Given the description of an element on the screen output the (x, y) to click on. 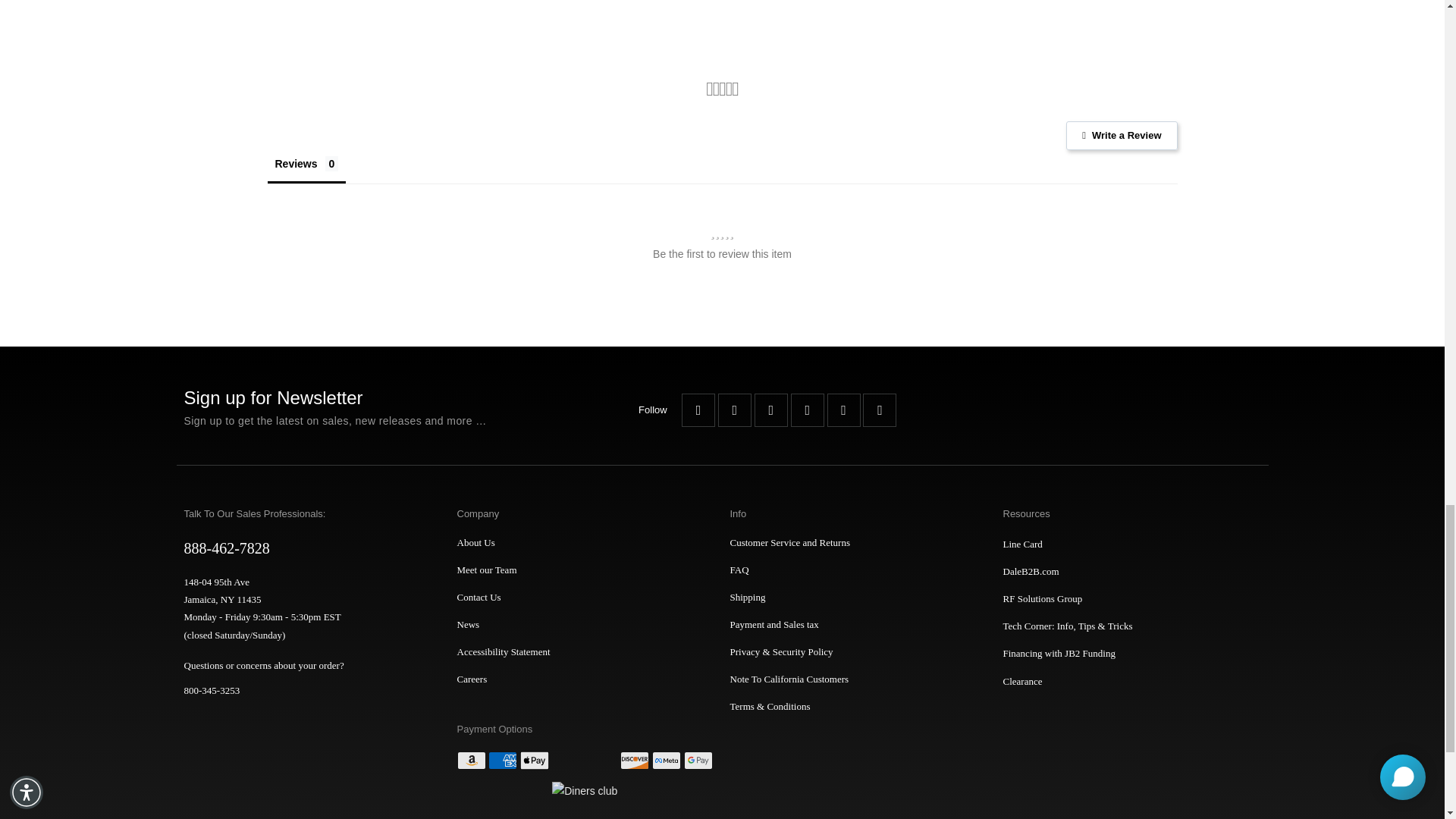
tel:800-345-3253 (304, 690)
Dale Pro Audio on Pinterest (807, 409)
Dale Pro Audio on LinkedIn (879, 409)
Dale Pro Audio on Facebook (697, 409)
Dale Pro Audio on Twitter (734, 409)
Dale Pro Audio on YouTube (770, 409)
Dale Pro Audio on Instagram (843, 409)
